Given the description of an element on the screen output the (x, y) to click on. 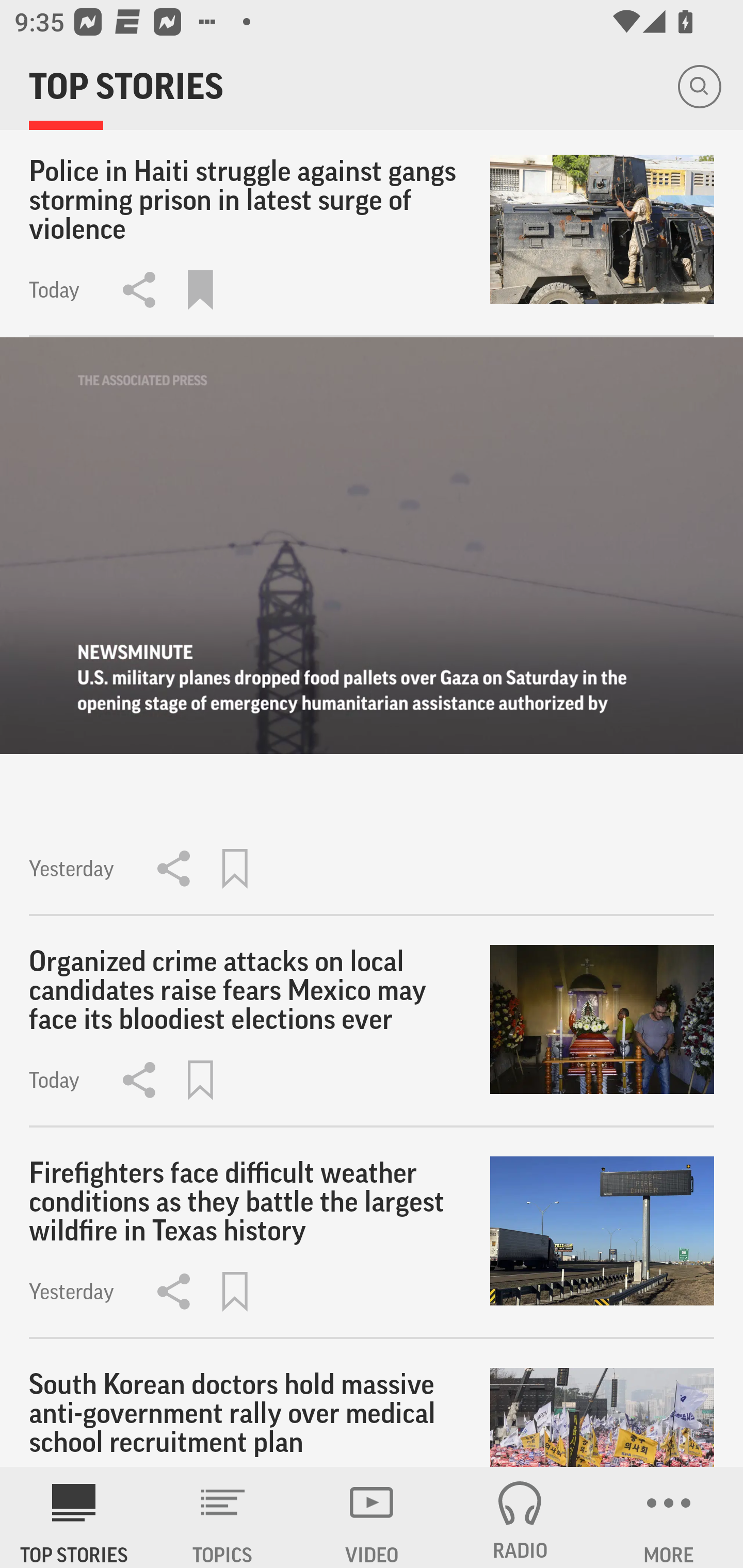
toggle controls Yesterday (371, 626)
toggle controls (371, 545)
AP News TOP STORIES (74, 1517)
TOPICS (222, 1517)
VIDEO (371, 1517)
RADIO (519, 1517)
MORE (668, 1517)
